Given the description of an element on the screen output the (x, y) to click on. 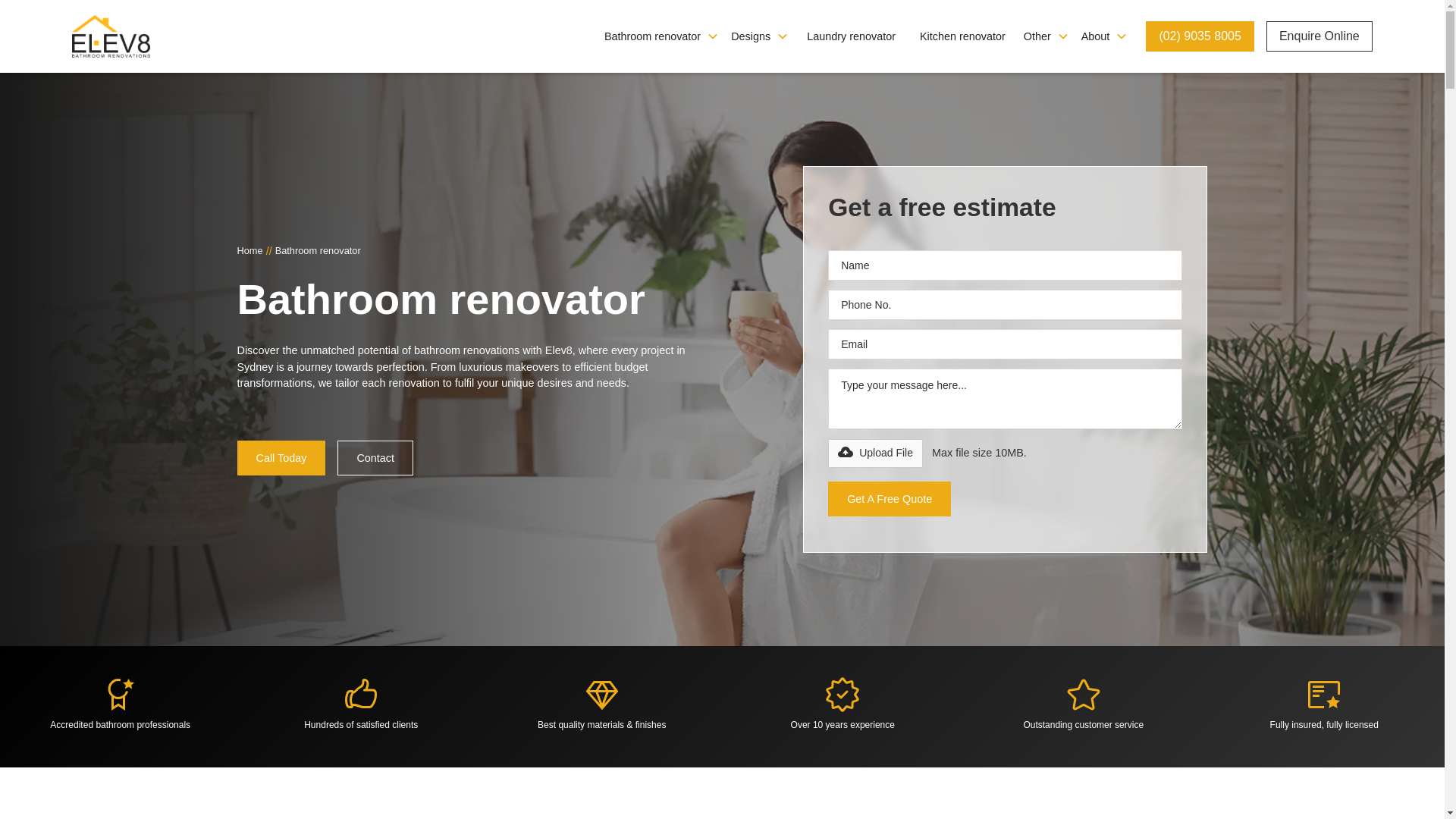
Contact (375, 457)
Laundry renovator (850, 35)
Home (248, 250)
Call Today (279, 457)
Kitchen renovator (962, 35)
Get A Free Quote (889, 498)
Bathroom renovator (646, 35)
Get A Free Quote (889, 498)
Enquire Online (1319, 36)
